Given the description of an element on the screen output the (x, y) to click on. 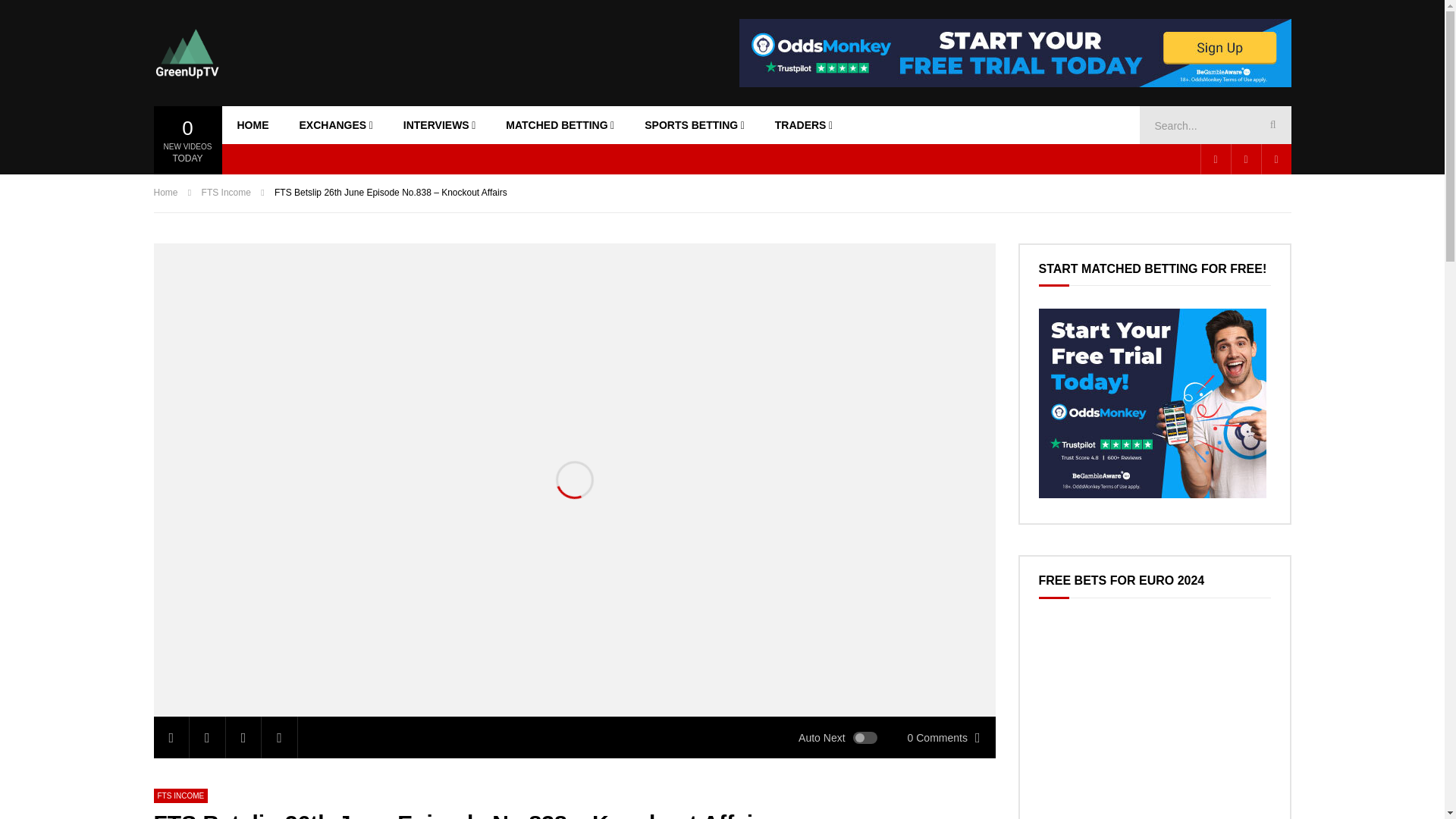
GreenUpTV (185, 52)
Facebook (1214, 159)
MATCHED BETTING (559, 125)
Search (1270, 125)
EXCHANGES (335, 125)
0 Comments (943, 737)
FTS Income (180, 795)
INTERVIEWS (440, 125)
Search (1270, 125)
Twitter (1245, 159)
FTS Income (226, 192)
TRADERS (803, 125)
HOME (252, 125)
Instagram (1275, 159)
Home (164, 192)
